Given the description of an element on the screen output the (x, y) to click on. 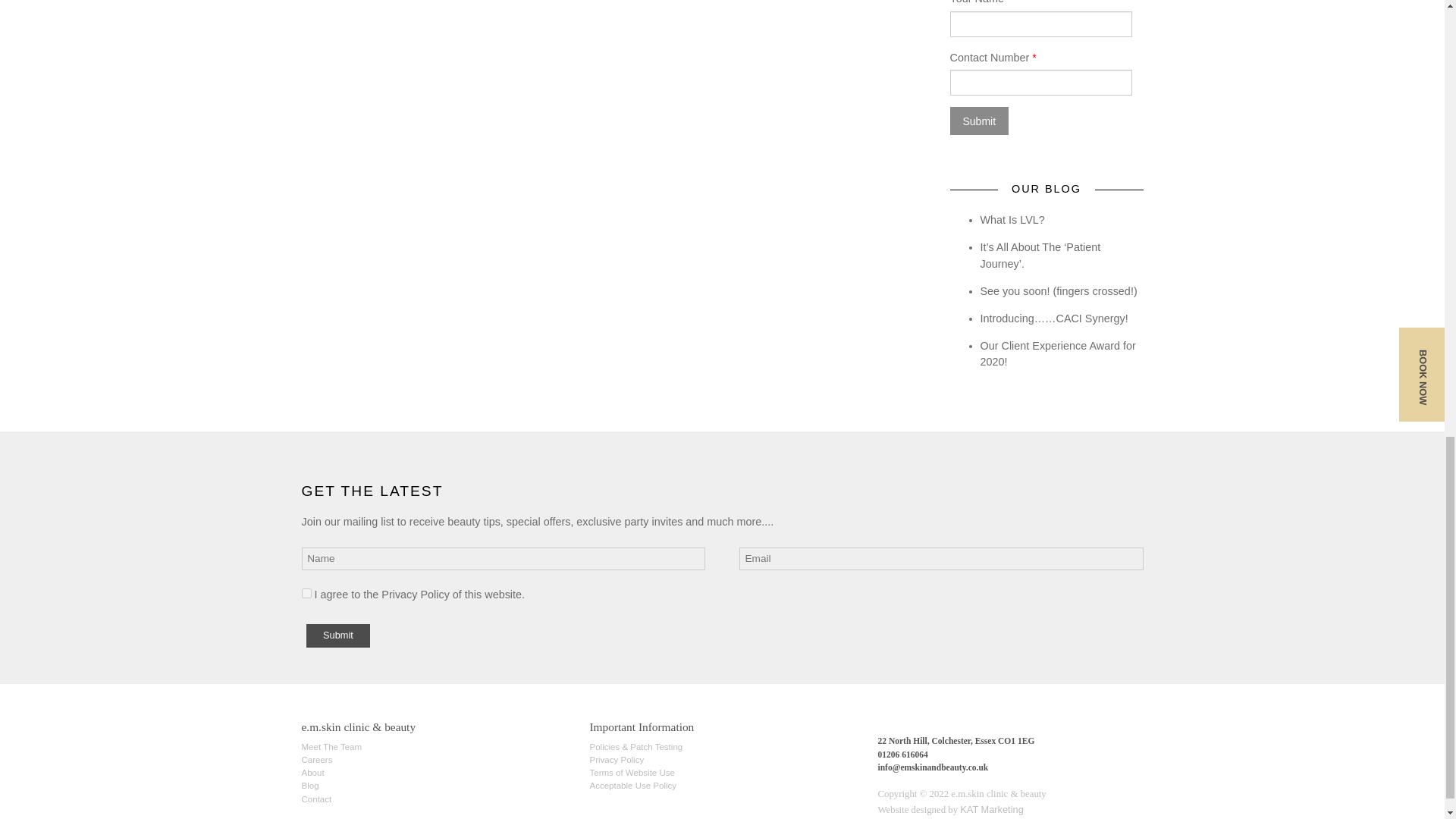
Email (940, 558)
Submit (979, 121)
Submit (337, 636)
1 (306, 593)
Name (503, 558)
